Given the description of an element on the screen output the (x, y) to click on. 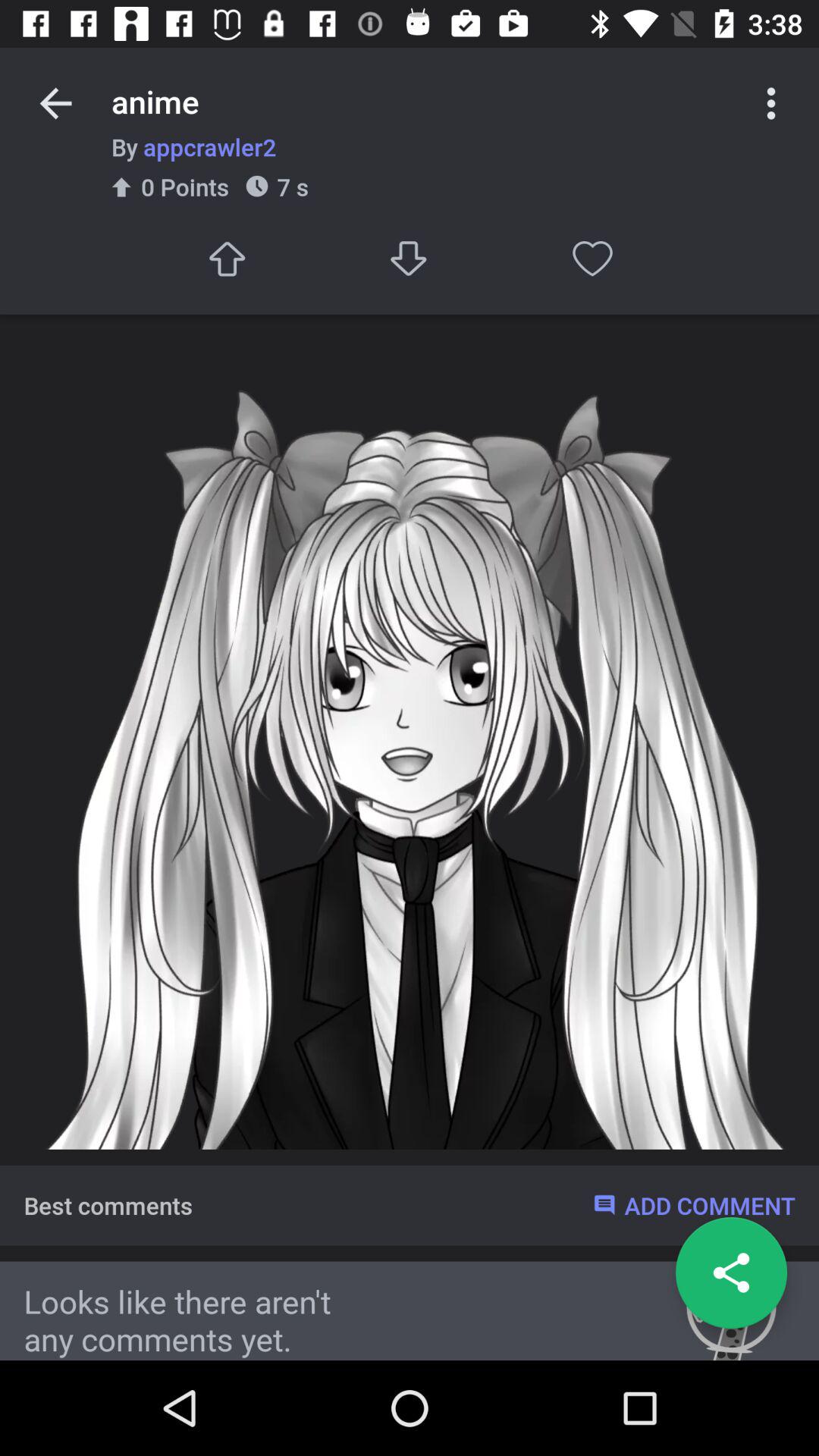
down arrow (409, 258)
